Given the description of an element on the screen output the (x, y) to click on. 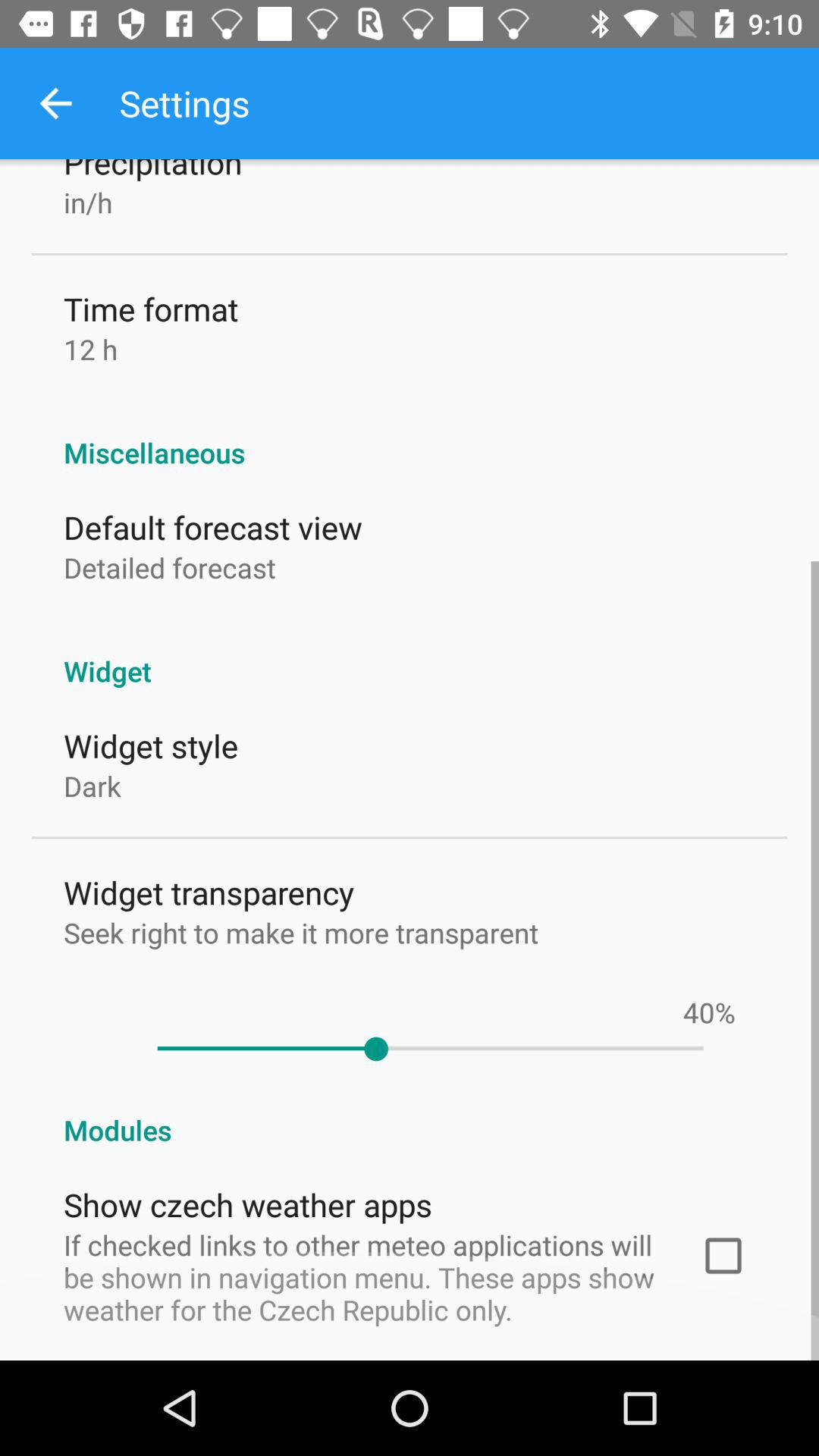
launch the icon below widget icon (724, 1012)
